Given the description of an element on the screen output the (x, y) to click on. 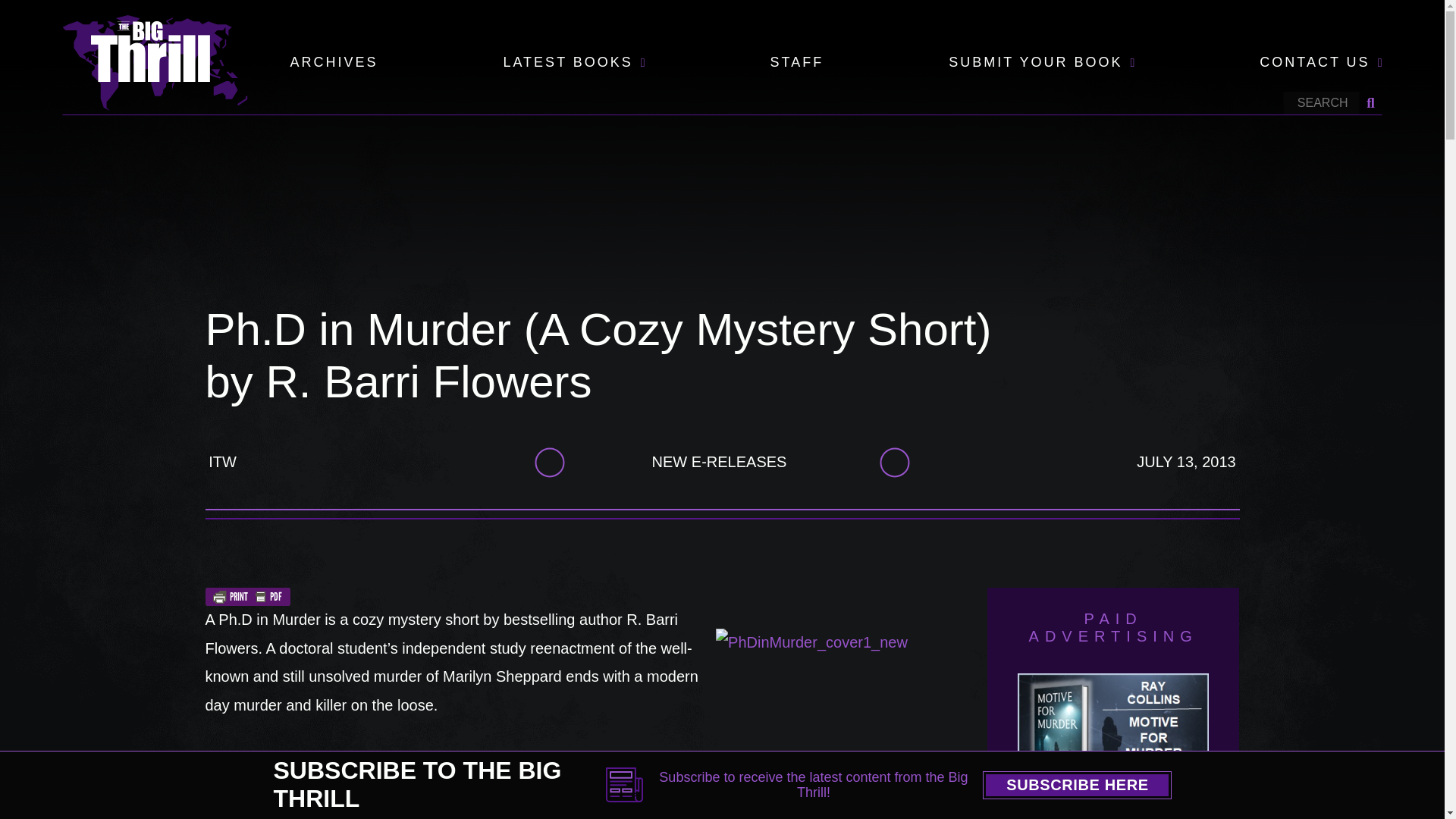
SUBMIT YOUR BOOK (1035, 62)
STAFF (797, 62)
ARCHIVES (333, 62)
CONTACT US (1314, 62)
LATEST BOOKS (566, 62)
Motive for Murder by Ray Collins (1113, 743)
